Given the description of an element on the screen output the (x, y) to click on. 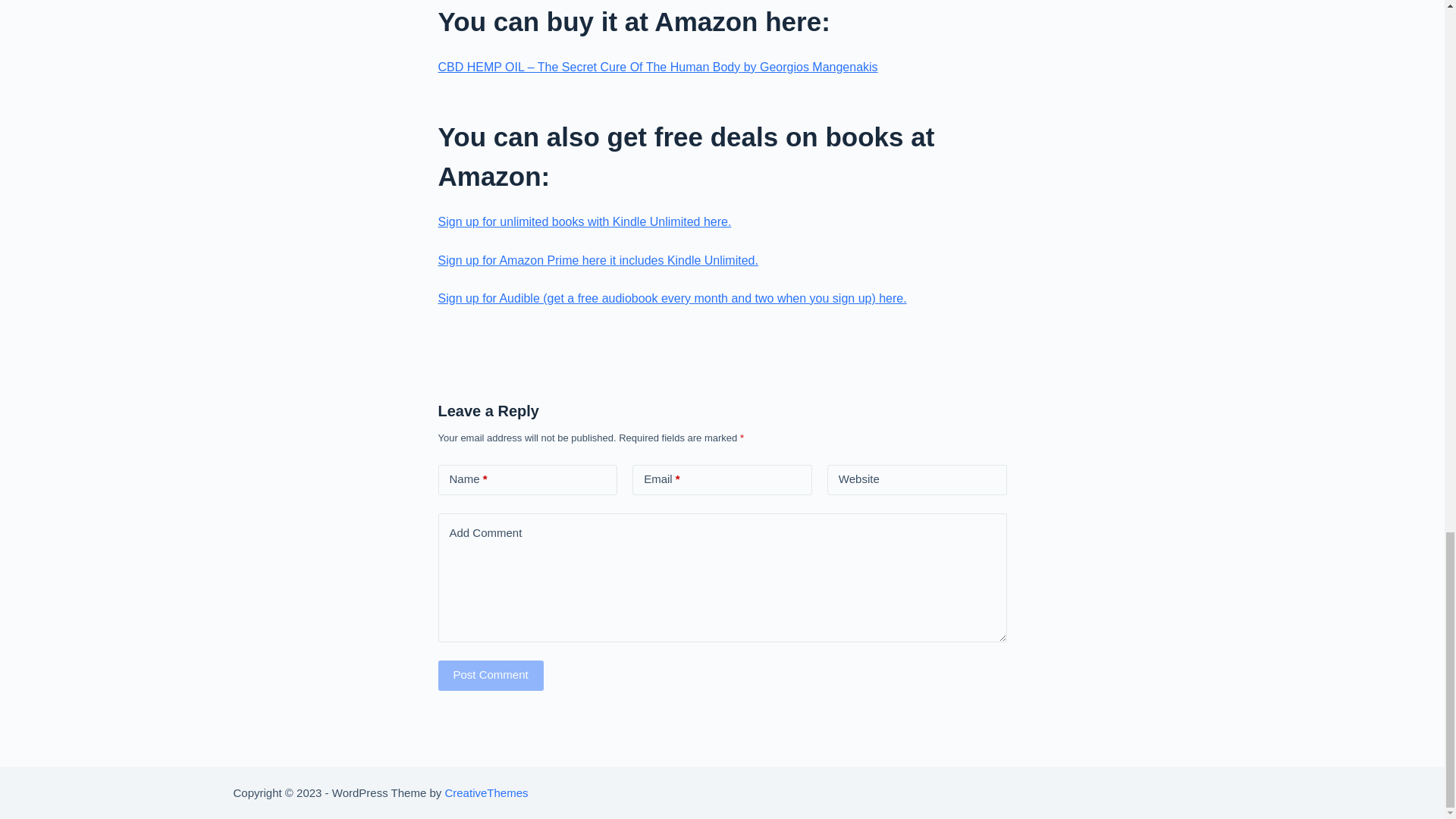
Sign up for unlimited books with Kindle Unlimited here. (585, 221)
Sign up for Amazon Prime here it includes Kindle Unlimited. (598, 259)
